Given the description of an element on the screen output the (x, y) to click on. 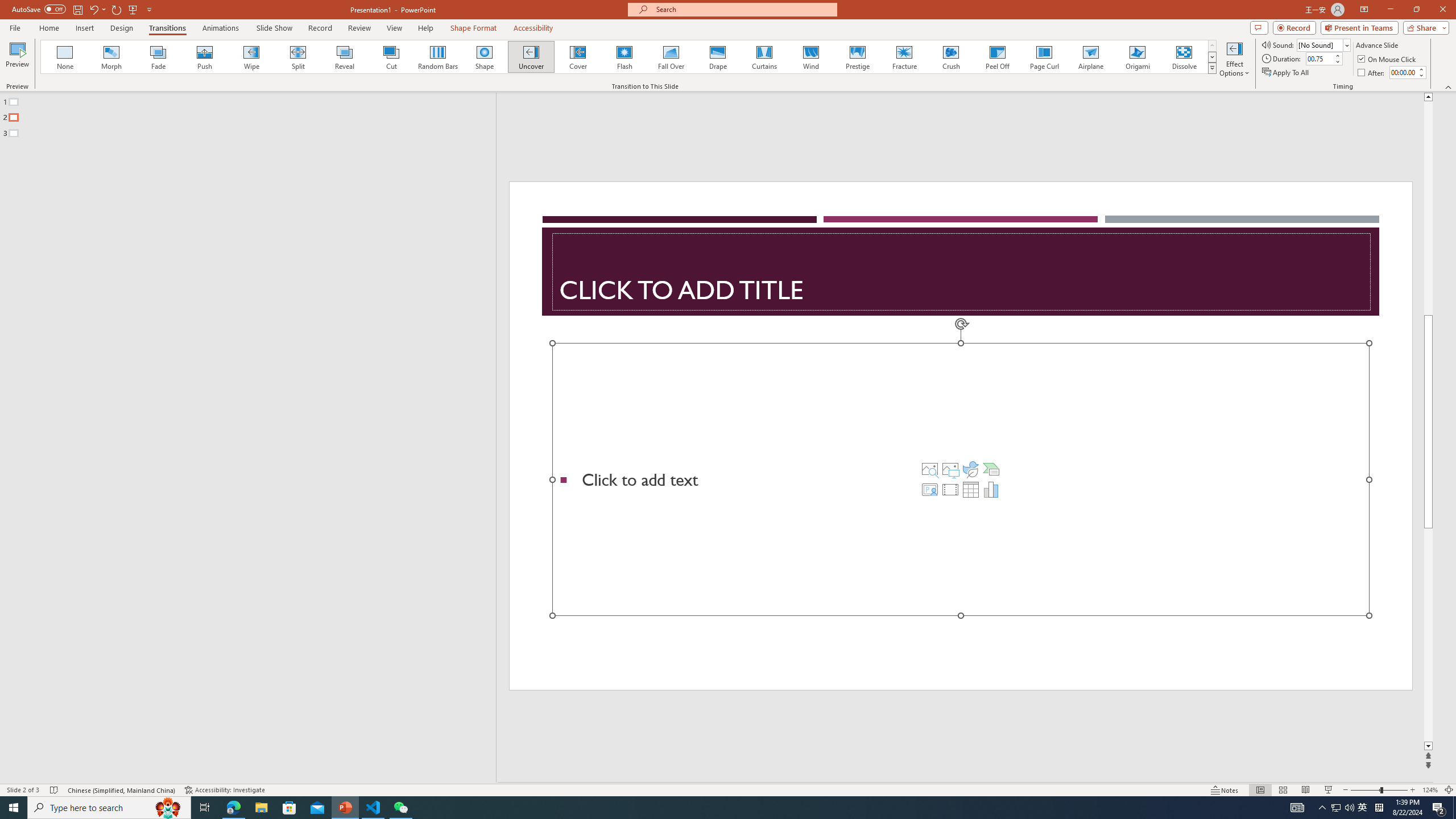
Airplane (1090, 56)
Content Placeholder (960, 479)
Crush (950, 56)
Curtains (764, 56)
Reveal (344, 56)
Cover (577, 56)
